Given the description of an element on the screen output the (x, y) to click on. 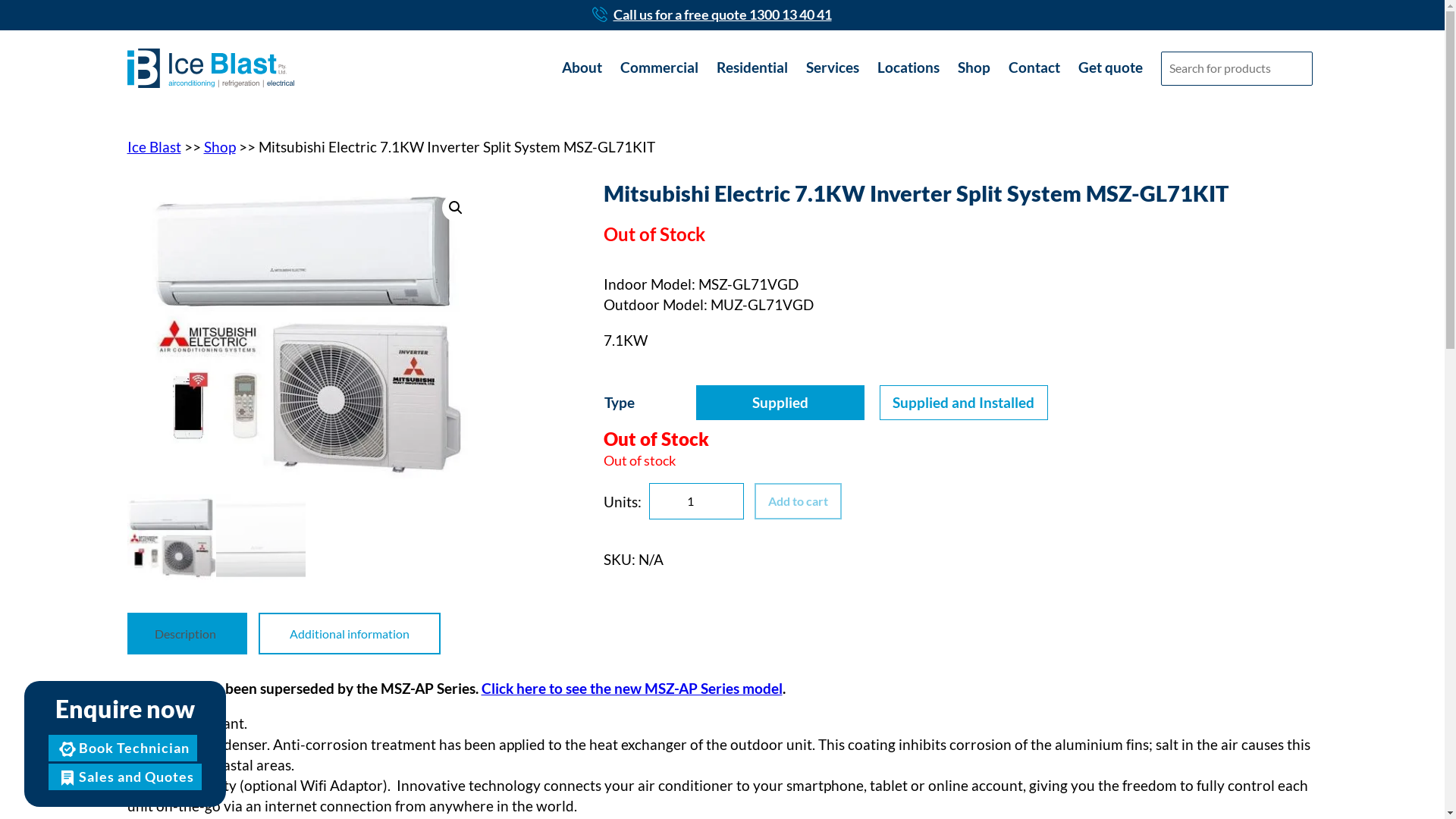
Call us for a free quote 1300 13 40 41 Element type: text (721, 14)
Description Element type: text (185, 633)
Click here to see the new MSZ-AP Series model Element type: text (630, 687)
Additional information Element type: text (349, 633)
Mitsubishi Electric 7.1KW Inverter Split System MSZ-GL71KIT Element type: hover (305, 336)
Ice Blast Element type: text (154, 146)
Book Technician Element type: text (122, 747)
Sales and Quotes Element type: text (124, 776)
Shop Element type: text (973, 68)
Add to cart Element type: text (796, 501)
Get quote Element type: text (1110, 68)
Contact Element type: text (1034, 68)
Shop Element type: text (219, 146)
